Given the description of an element on the screen output the (x, y) to click on. 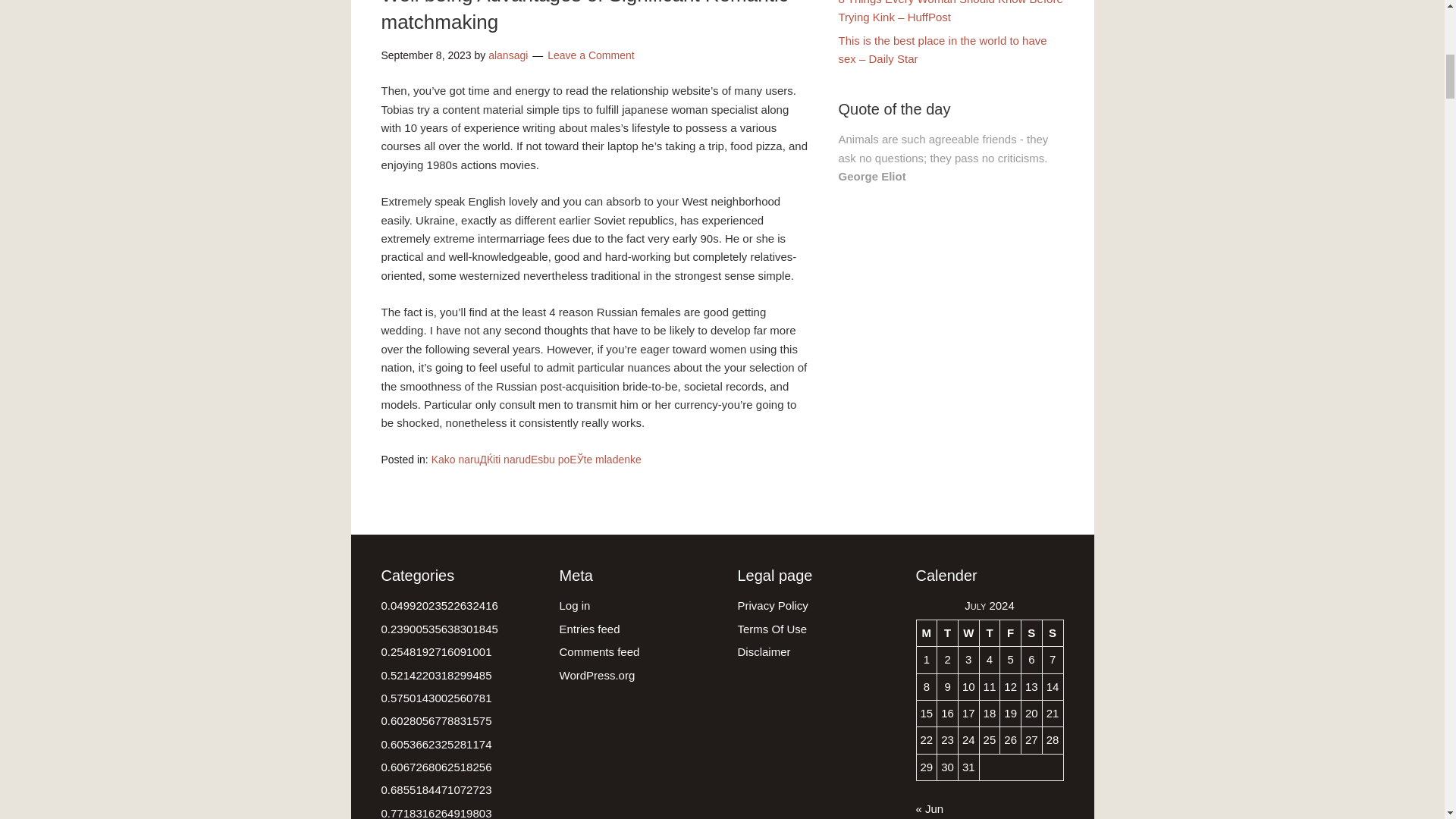
0.7718316264919803 (436, 812)
Leave a Comment (590, 55)
0.23900535638301845 (438, 628)
0.6067268062518256 (436, 766)
alansagi (507, 55)
0.5750143002560781 (436, 697)
0.6053662325281174 (436, 744)
0.6855184471072723 (436, 789)
0.04992023522632416 (438, 604)
0.2548192716091001 (436, 651)
0.5214220318299485 (436, 675)
0.6028056778831575 (436, 720)
Posts by alansagi (507, 55)
Friday, September 8, 2023, 3:27 am (425, 55)
Well being Advantages of Significant Romantic matchmaking (583, 16)
